Given the description of an element on the screen output the (x, y) to click on. 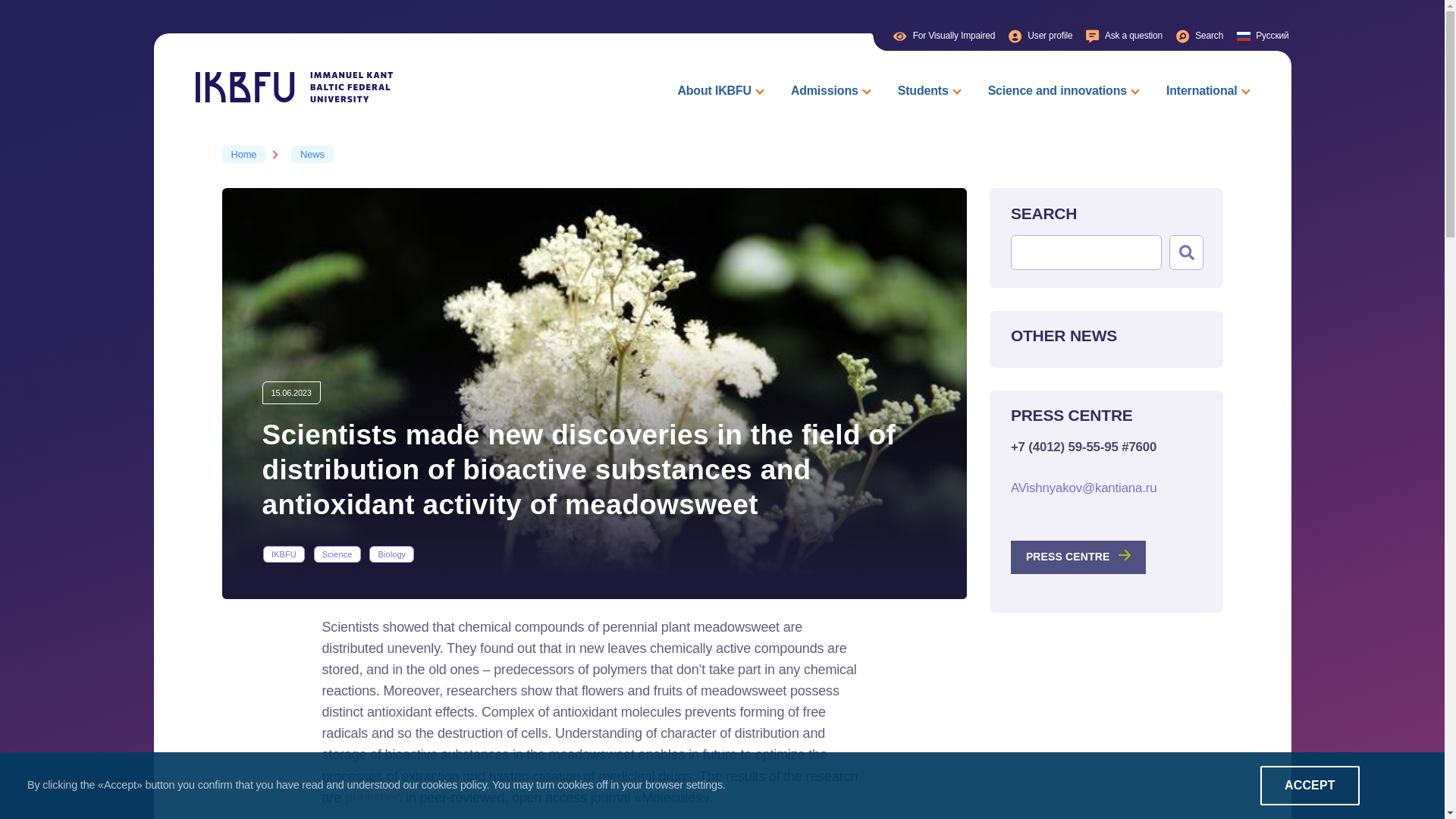
About IKBFU (717, 90)
User profile (1040, 35)
Students (927, 90)
News (312, 153)
For Visually Impaired (944, 35)
Search (1199, 35)
Ask a question (1123, 35)
Admissions (828, 90)
